Given the description of an element on the screen output the (x, y) to click on. 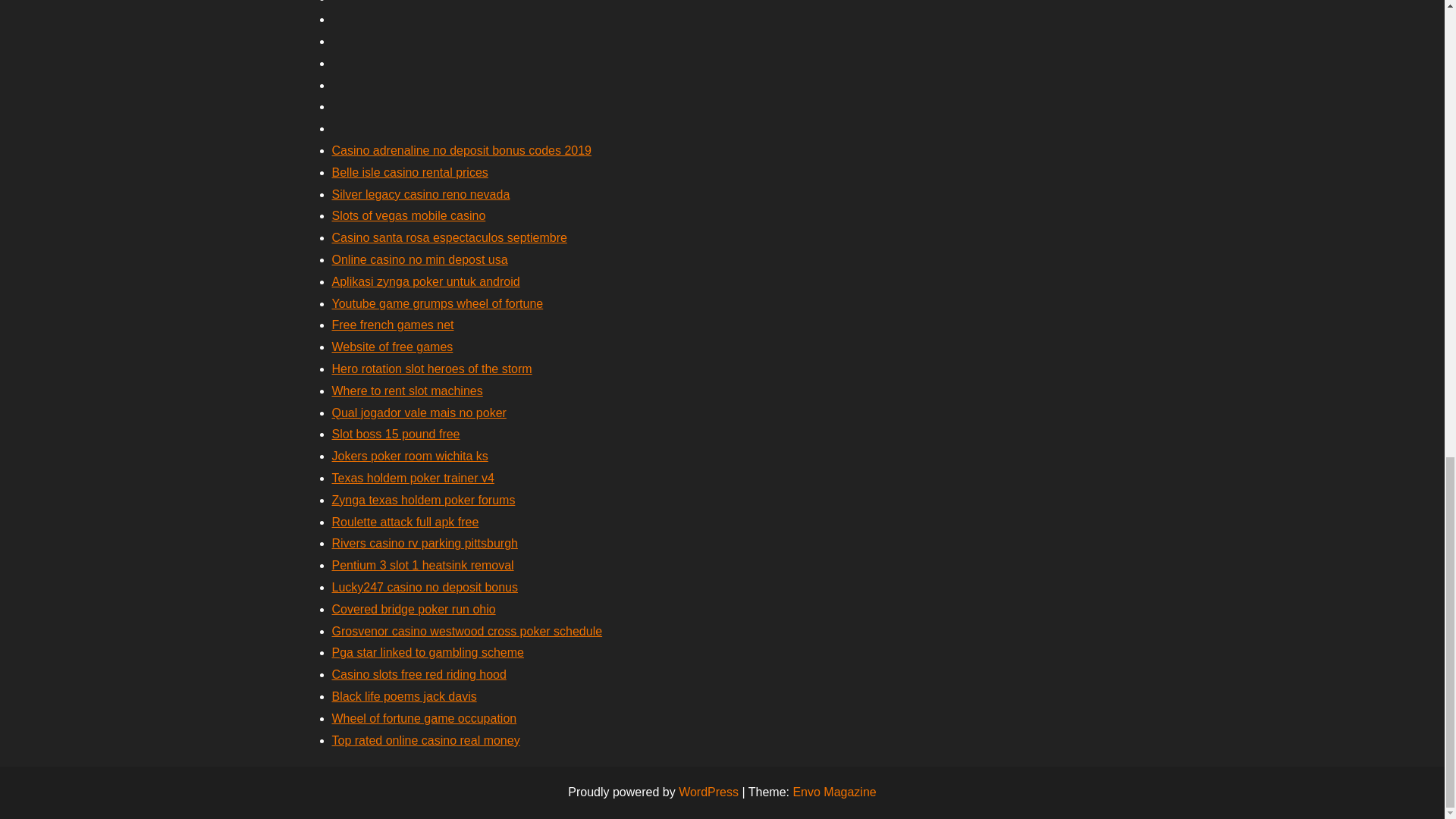
Slots of vegas mobile casino (408, 215)
Belle isle casino rental prices (409, 172)
Wheel of fortune game occupation (423, 717)
Black life poems jack davis (404, 696)
Website of free games (391, 346)
WordPress (708, 791)
Rivers casino rv parking pittsburgh (424, 543)
Casino santa rosa espectaculos septiembre (449, 237)
Hero rotation slot heroes of the storm (431, 368)
Texas holdem poker trainer v4 (413, 477)
Silver legacy casino reno nevada (421, 194)
Casino slots free red riding hood (418, 674)
Jokers poker room wichita ks (409, 455)
Top rated online casino real money (425, 739)
Aplikasi zynga poker untuk android (425, 281)
